Given the description of an element on the screen output the (x, y) to click on. 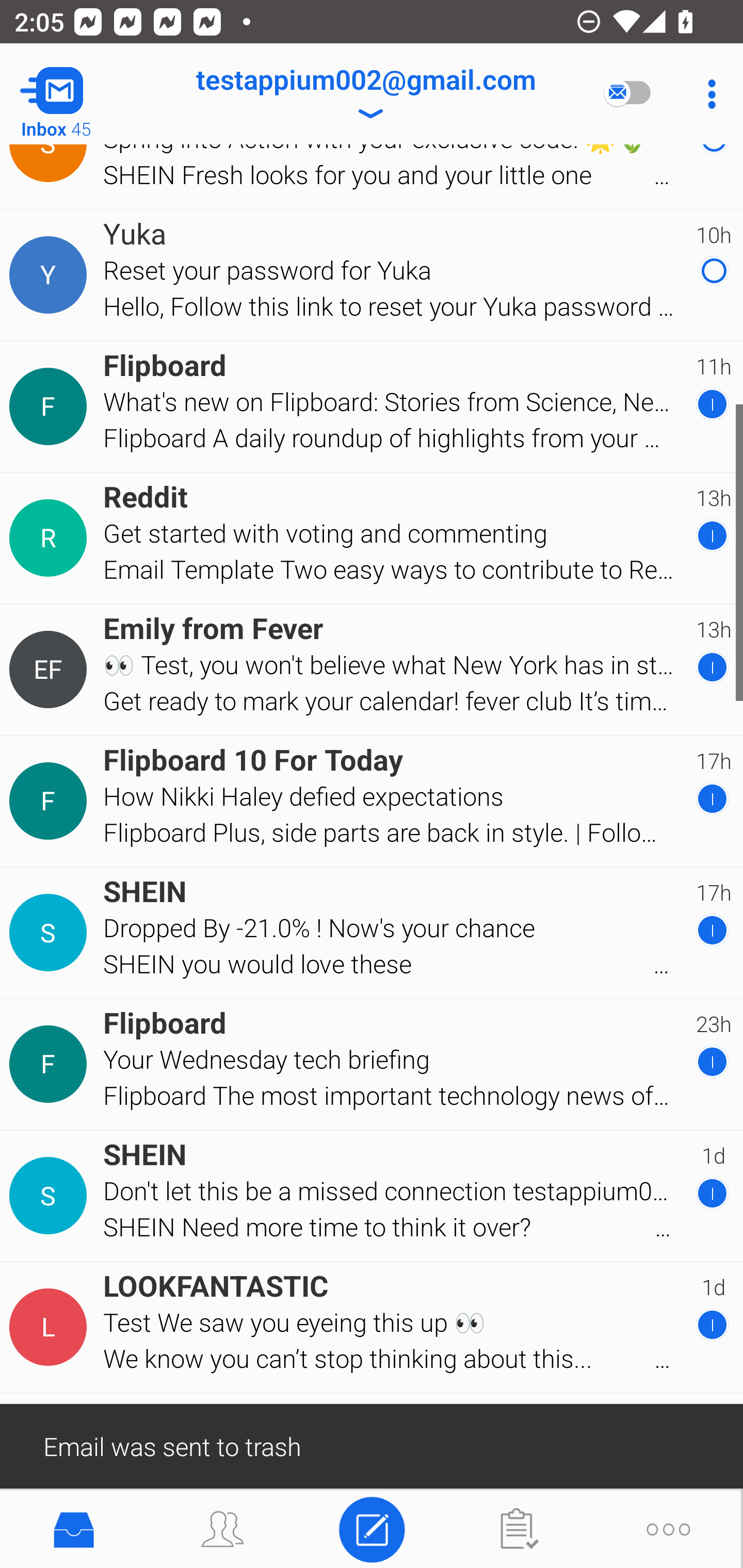
Navigate up (81, 93)
testappium002@gmail.com (365, 93)
More Options (706, 93)
Contact Details (50, 275)
Contact Details (50, 406)
Contact Details (50, 538)
Contact Details (50, 670)
Contact Details (50, 801)
Contact Details (50, 932)
Contact Details (50, 1063)
Contact Details (50, 1195)
Contact Details (50, 1327)
Email was sent to trash (371, 1445)
Compose (371, 1528)
